Given the description of an element on the screen output the (x, y) to click on. 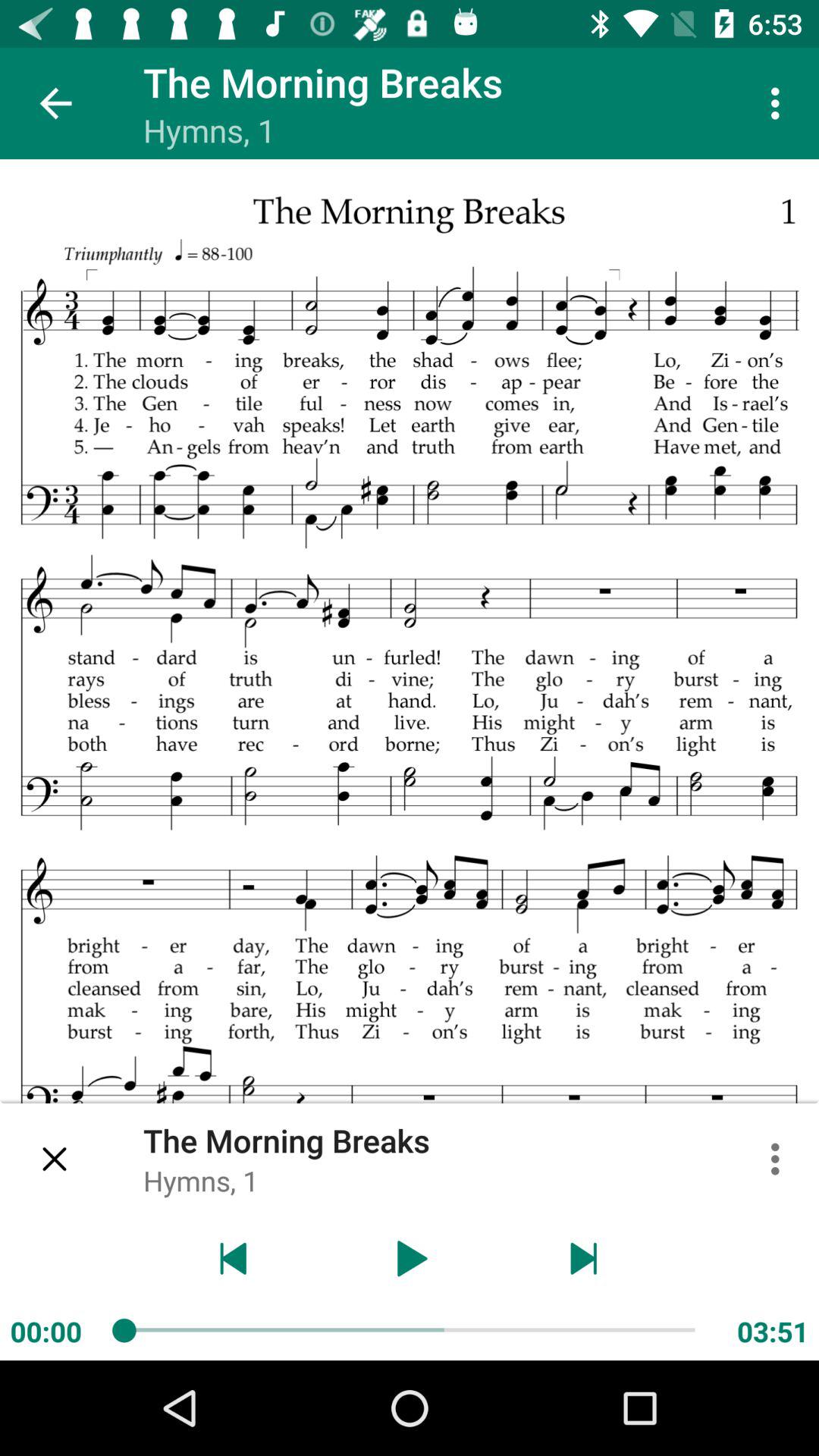
select item to the left of the morning breaks icon (55, 103)
